Given the description of an element on the screen output the (x, y) to click on. 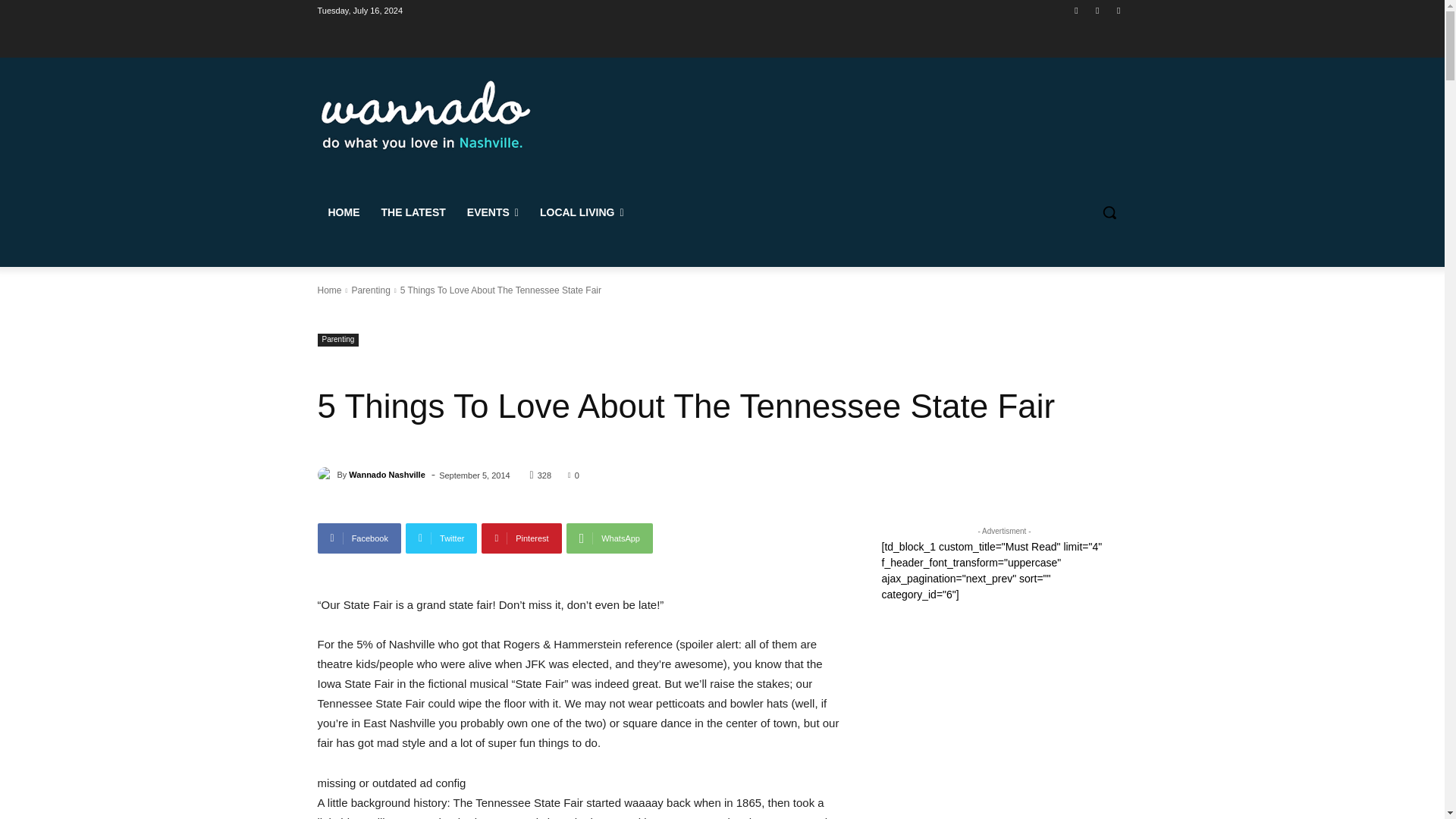
0 (573, 474)
HOME (343, 212)
Wannado Nashville (387, 474)
Parenting (337, 339)
Pinterest (520, 538)
Twitter (441, 538)
THE LATEST (412, 212)
EVENTS (493, 212)
Wannado Nashville (326, 474)
Facebook (358, 538)
DO WHAT YOU LOVE. (426, 114)
View all posts in Parenting (370, 290)
Instagram (1097, 9)
Facebook (1075, 9)
Facebook (358, 538)
